Given the description of an element on the screen output the (x, y) to click on. 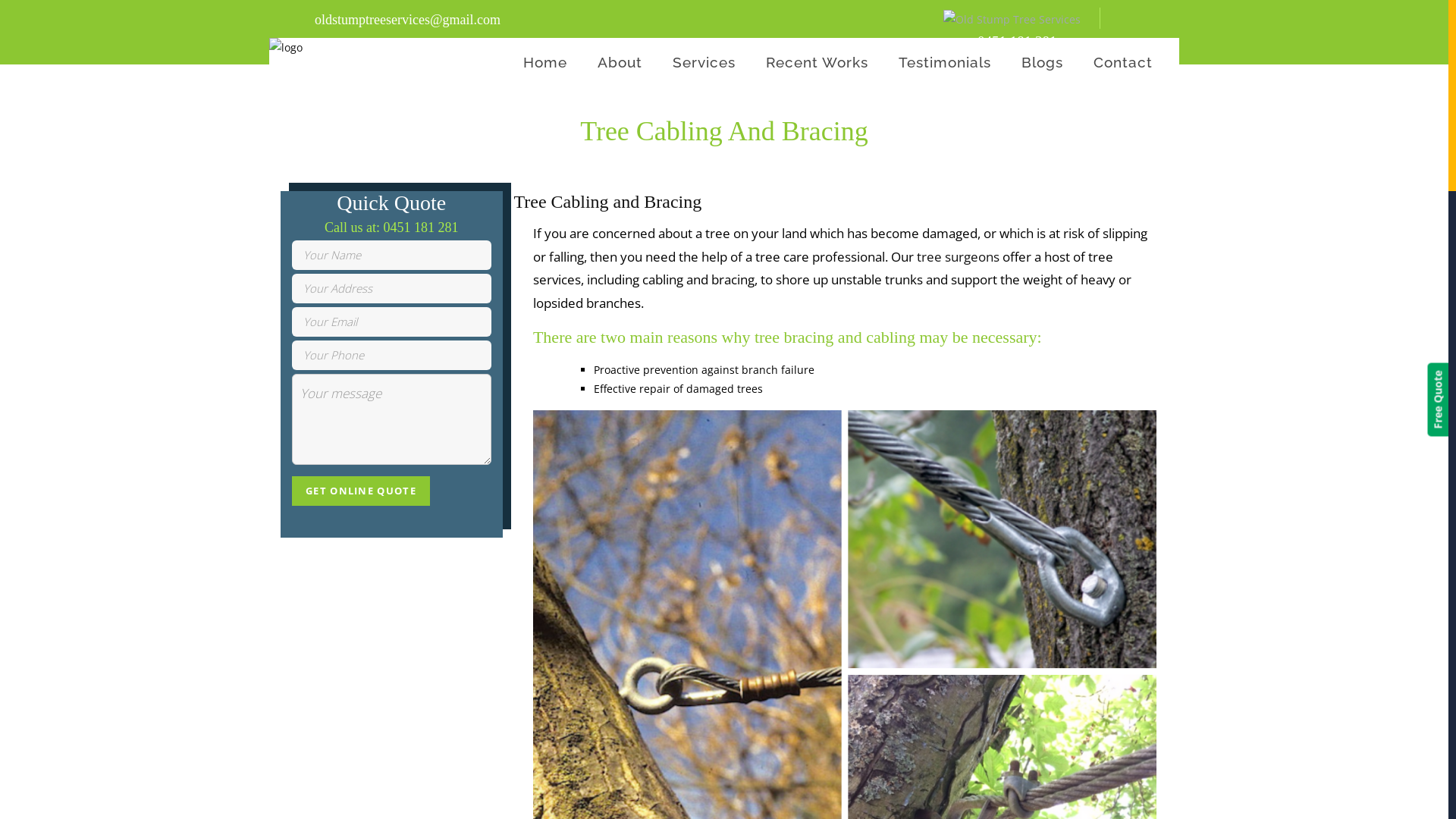
About Element type: text (619, 61)
tree surgeons Element type: text (957, 256)
Recent Works Element type: text (816, 61)
Testimonials Element type: text (944, 61)
Services Element type: text (703, 61)
Home Element type: text (545, 61)
Blogs Element type: text (1042, 61)
Contact Element type: text (1122, 61)
Get Online Quote Element type: text (360, 490)
